Given the description of an element on the screen output the (x, y) to click on. 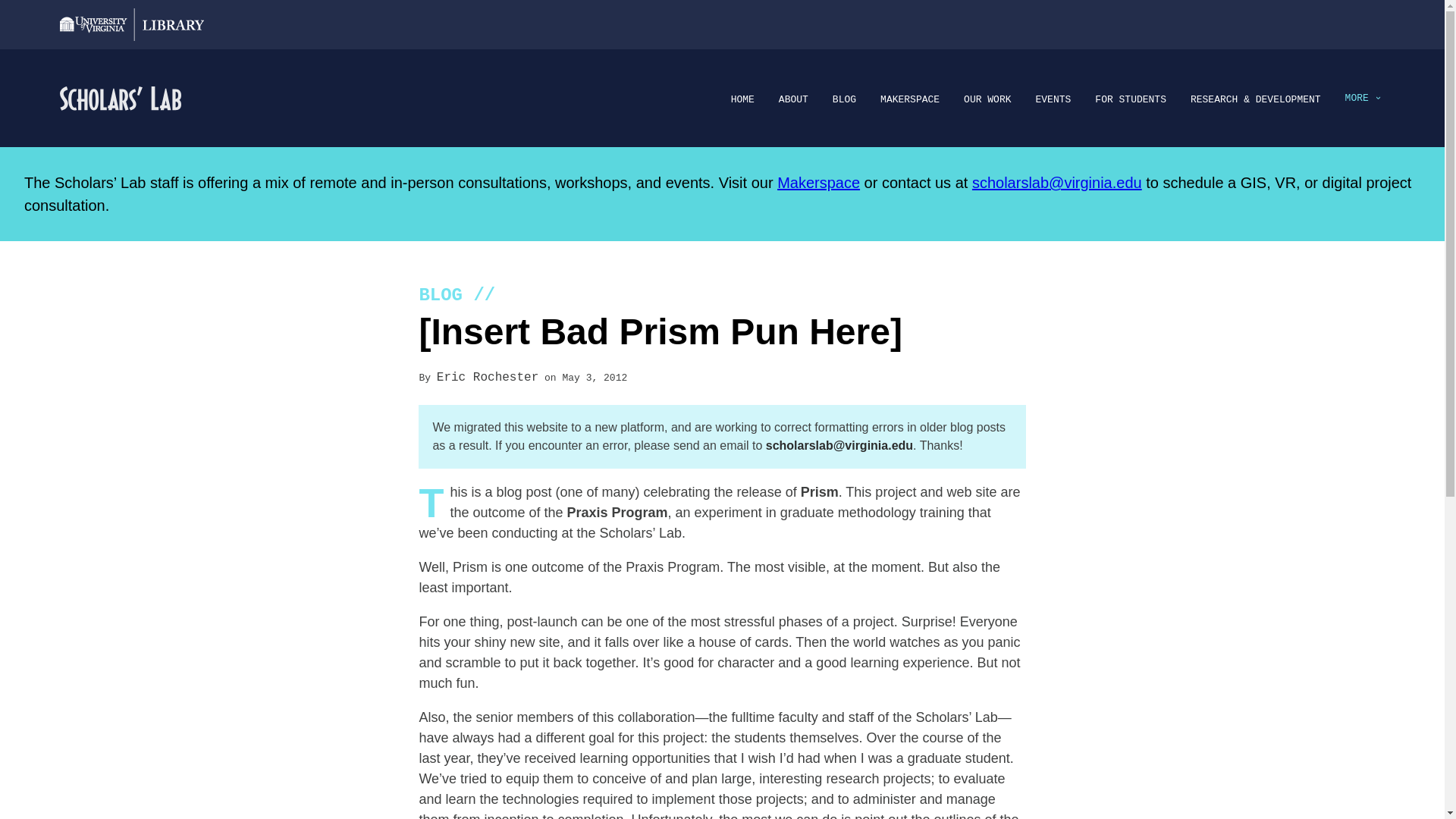
BLOG (844, 99)
HOME (742, 99)
EVENTS (1053, 99)
FOR STUDENTS (1130, 99)
Makerspace (818, 182)
OUR WORK (986, 99)
ABOUT (793, 99)
MAKERSPACE (909, 99)
Praxis Program (617, 512)
Prism (819, 491)
